Given the description of an element on the screen output the (x, y) to click on. 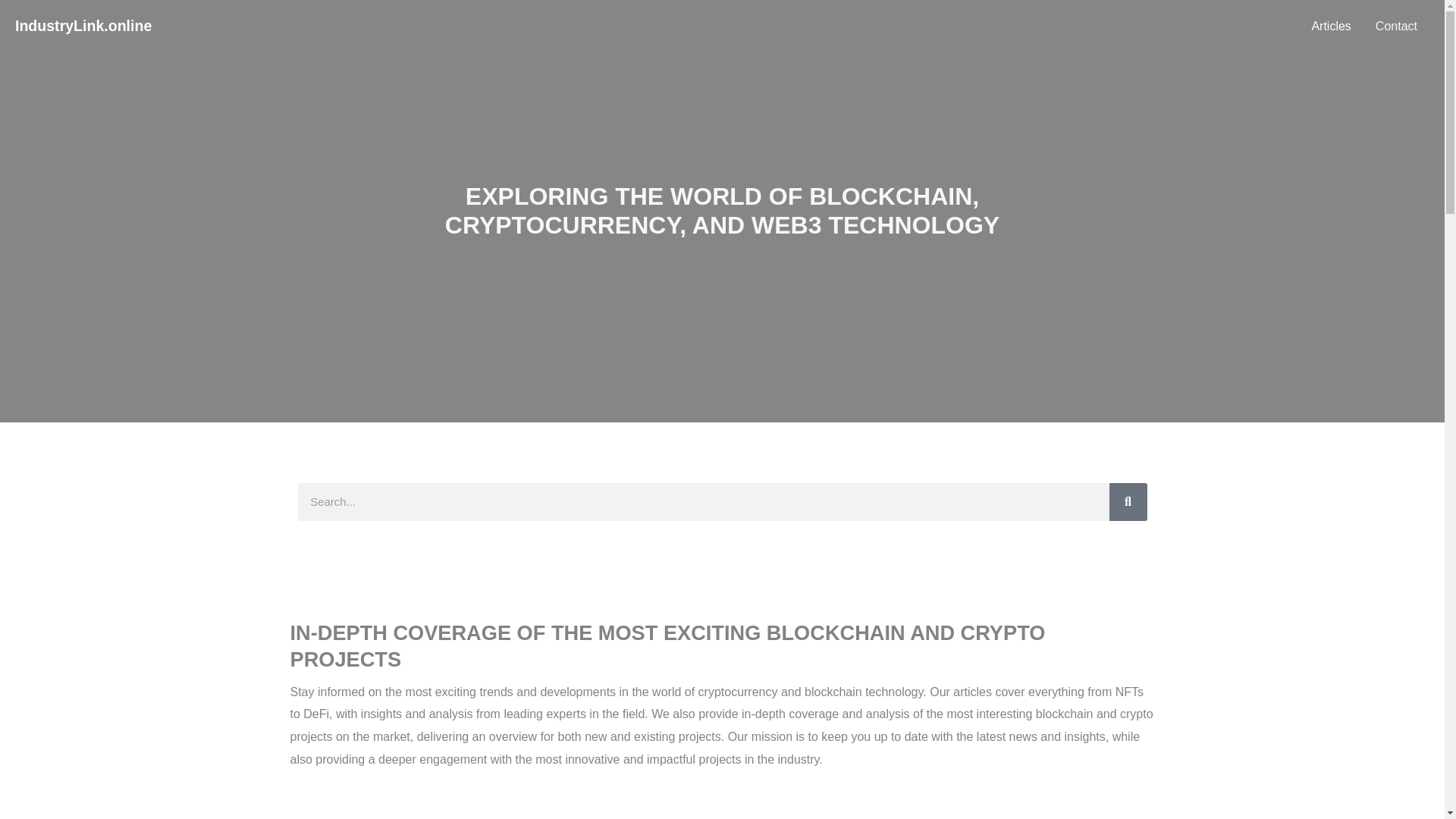
IndustryLink.online (82, 25)
Articles (1330, 26)
Contact (1395, 26)
